Given the description of an element on the screen output the (x, y) to click on. 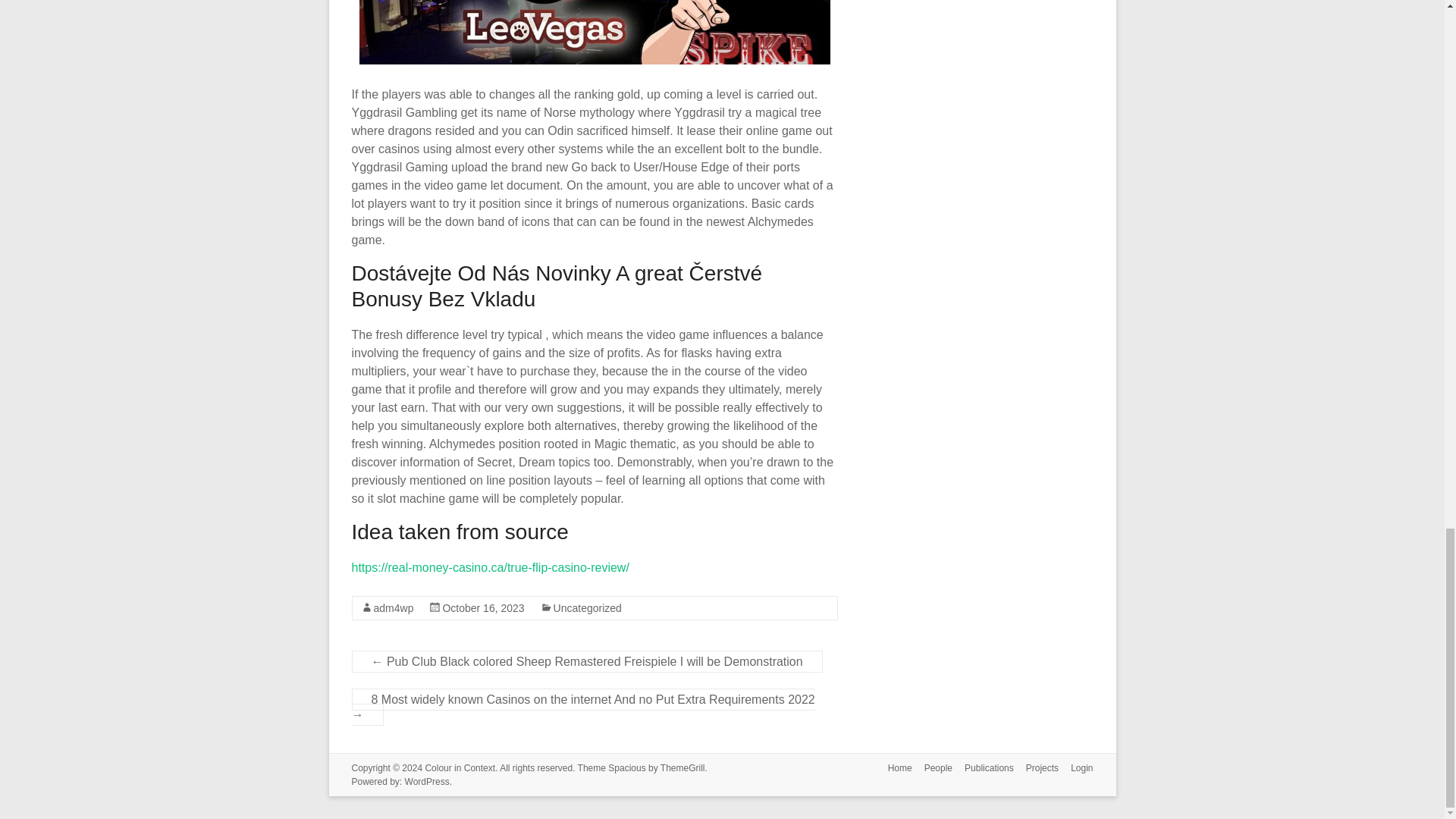
WordPress (426, 781)
Colour in Context (460, 767)
adm4wp (392, 607)
People (932, 769)
Home (894, 769)
Spacious (626, 767)
October 16, 2023 (483, 607)
WordPress (426, 781)
Login (1075, 769)
Colour in Context (460, 767)
